Given the description of an element on the screen output the (x, y) to click on. 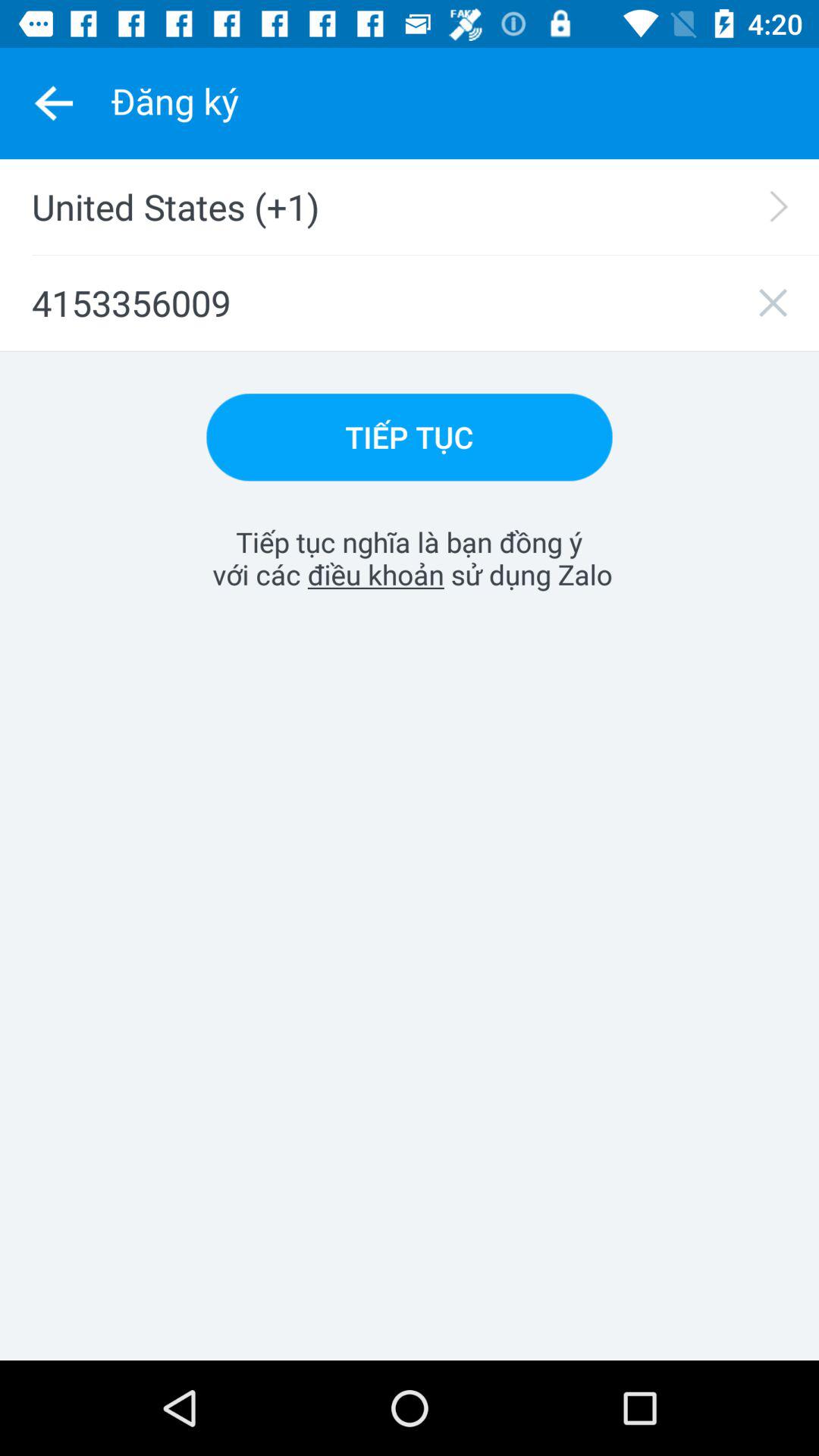
turn on item below the united states (+1) (409, 302)
